Given the description of an element on the screen output the (x, y) to click on. 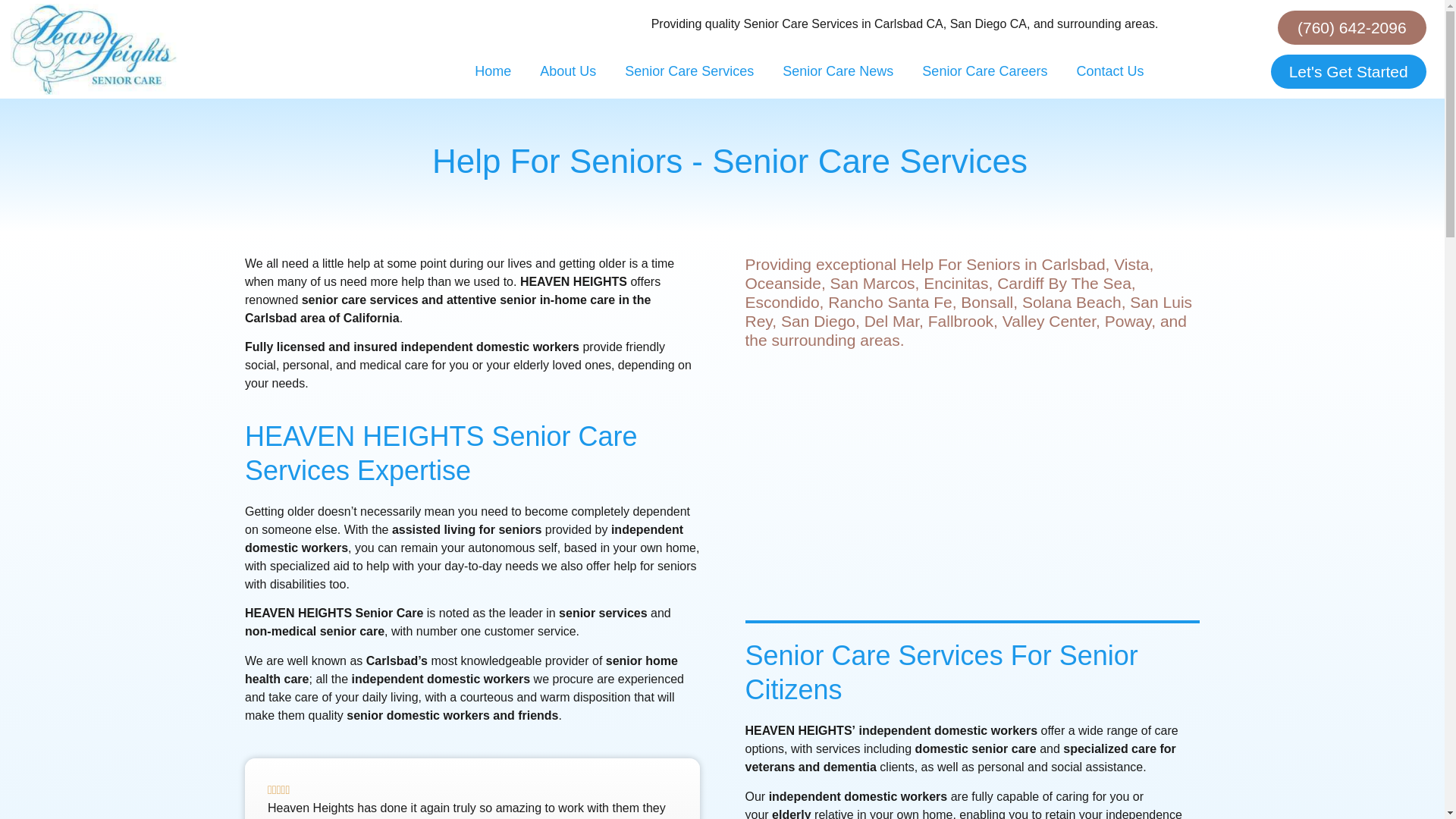
About Us (567, 70)
Contact Us (1109, 70)
Let's Get Started (1348, 71)
Senior Care News (837, 70)
Senior Care Services (689, 70)
Senior Care Careers (984, 70)
Home (492, 70)
